Given the description of an element on the screen output the (x, y) to click on. 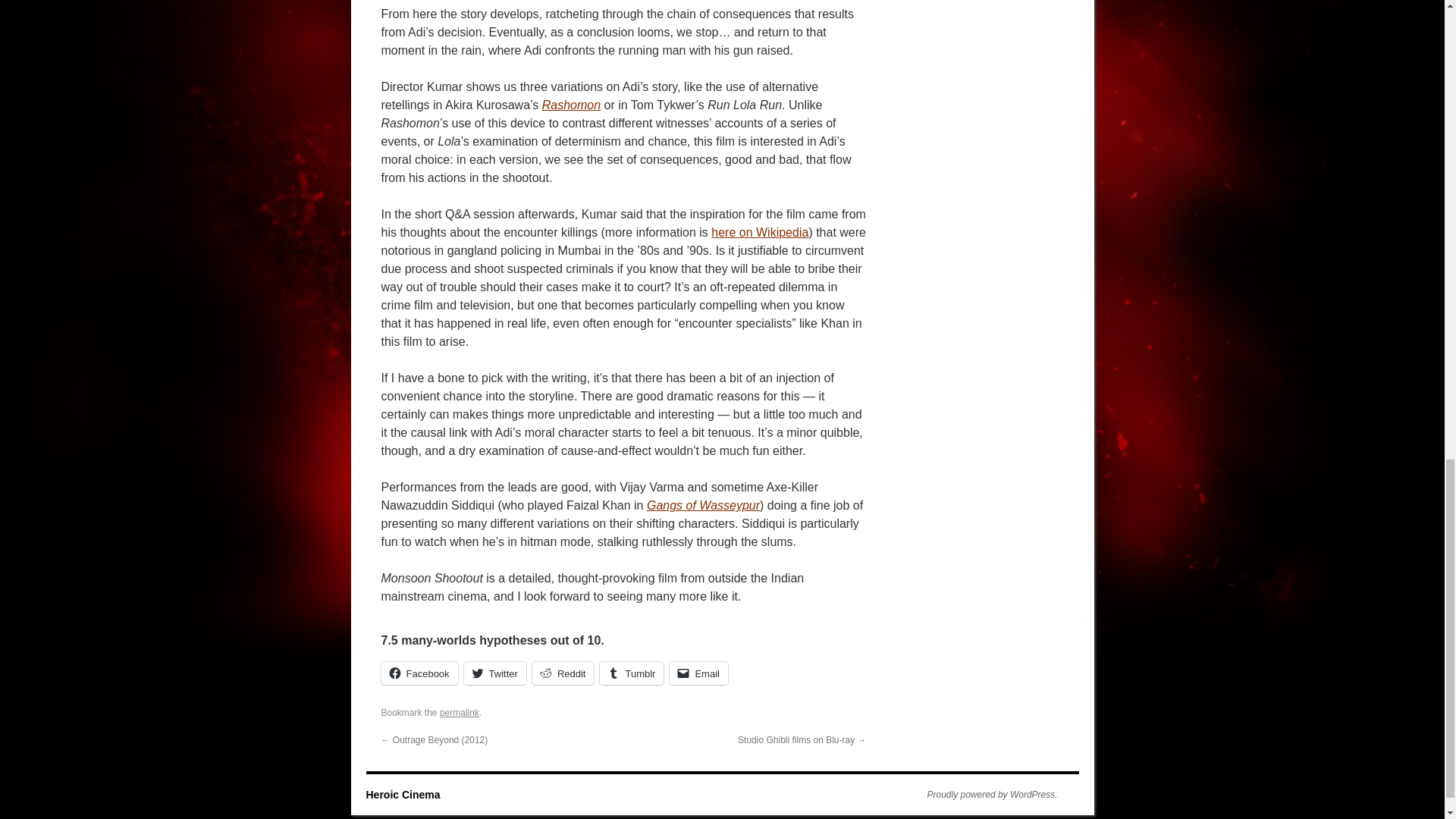
Click to share on Twitter (494, 672)
Click to share on Tumblr (631, 672)
Facebook (418, 672)
here on Wikipedia (759, 232)
Email (698, 672)
Rashomon (570, 104)
permalink (459, 712)
Twitter (494, 672)
Reddit (563, 672)
Click to share on Reddit (563, 672)
Gangs of Wasseypur (703, 504)
Click to share on Facebook (418, 672)
Click to email a link to a friend (698, 672)
Tumblr (631, 672)
